Given the description of an element on the screen output the (x, y) to click on. 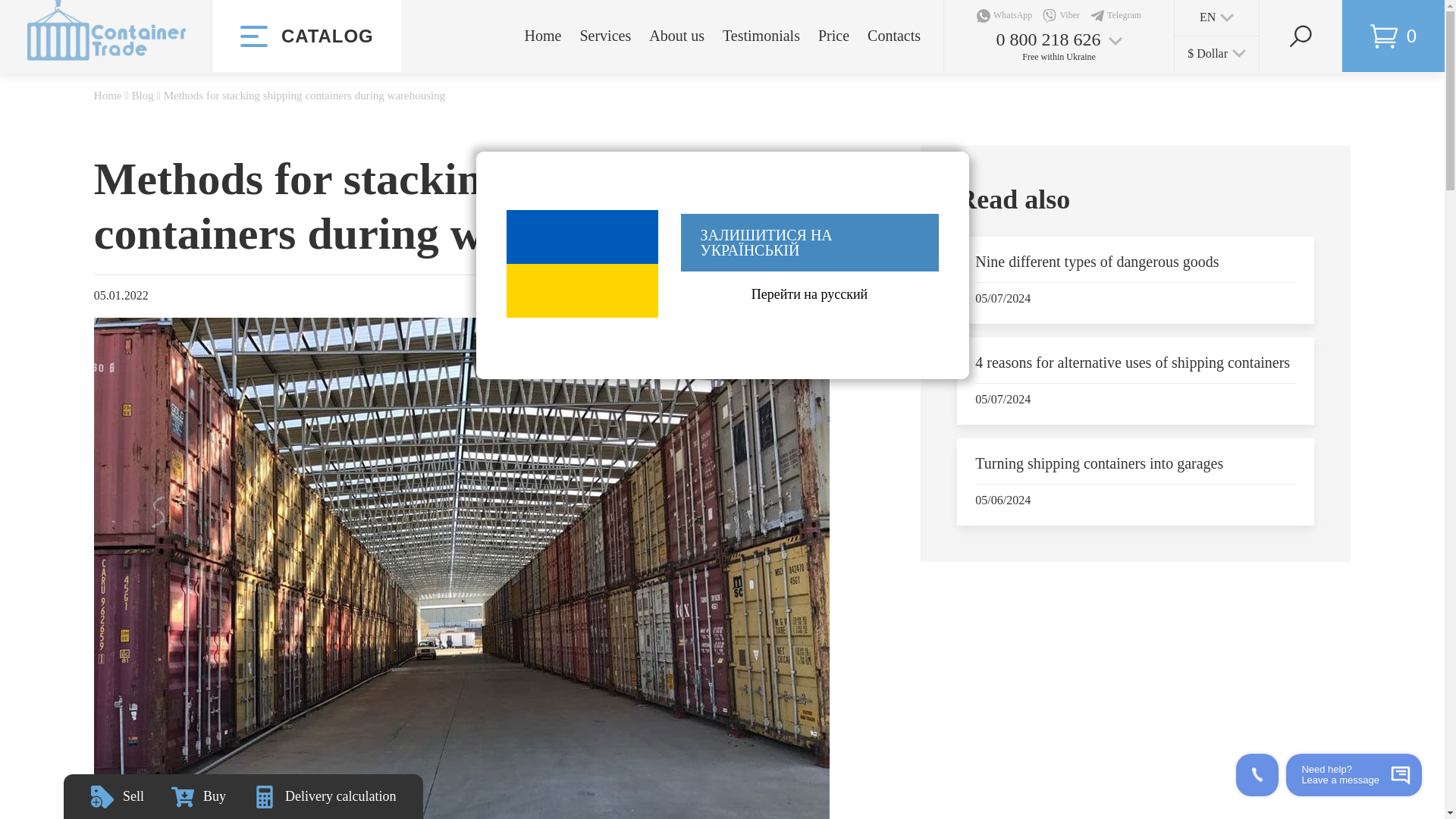
Home (543, 35)
Services (604, 35)
Testimonials (760, 35)
CATALOG (306, 36)
About us (676, 35)
